Given the description of an element on the screen output the (x, y) to click on. 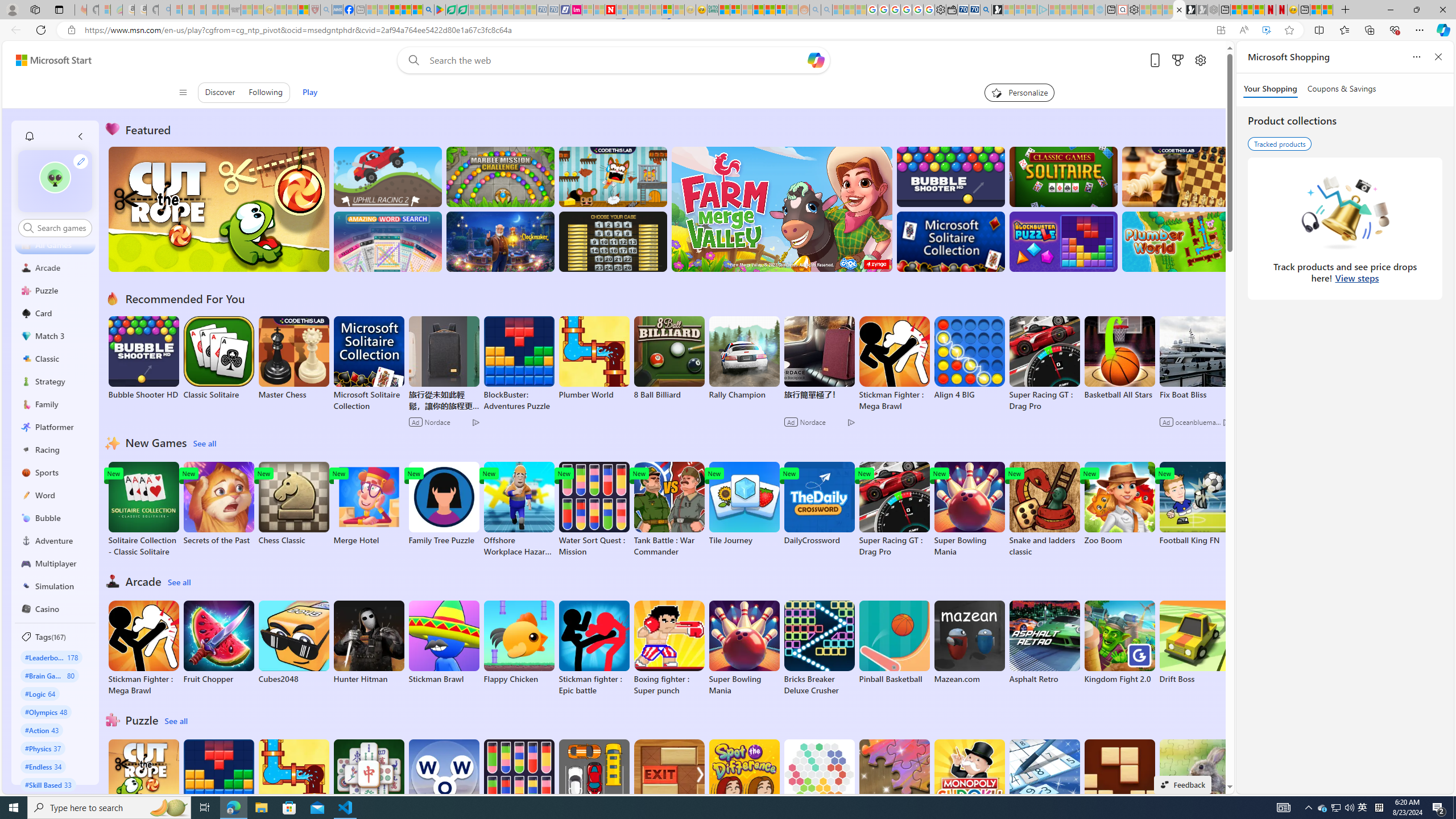
Basketball All Stars (1119, 358)
Stickman fighter : Epic battle (593, 648)
Kingdom Fight 2.0 (1119, 642)
Drift Boss (1194, 642)
